Given the description of an element on the screen output the (x, y) to click on. 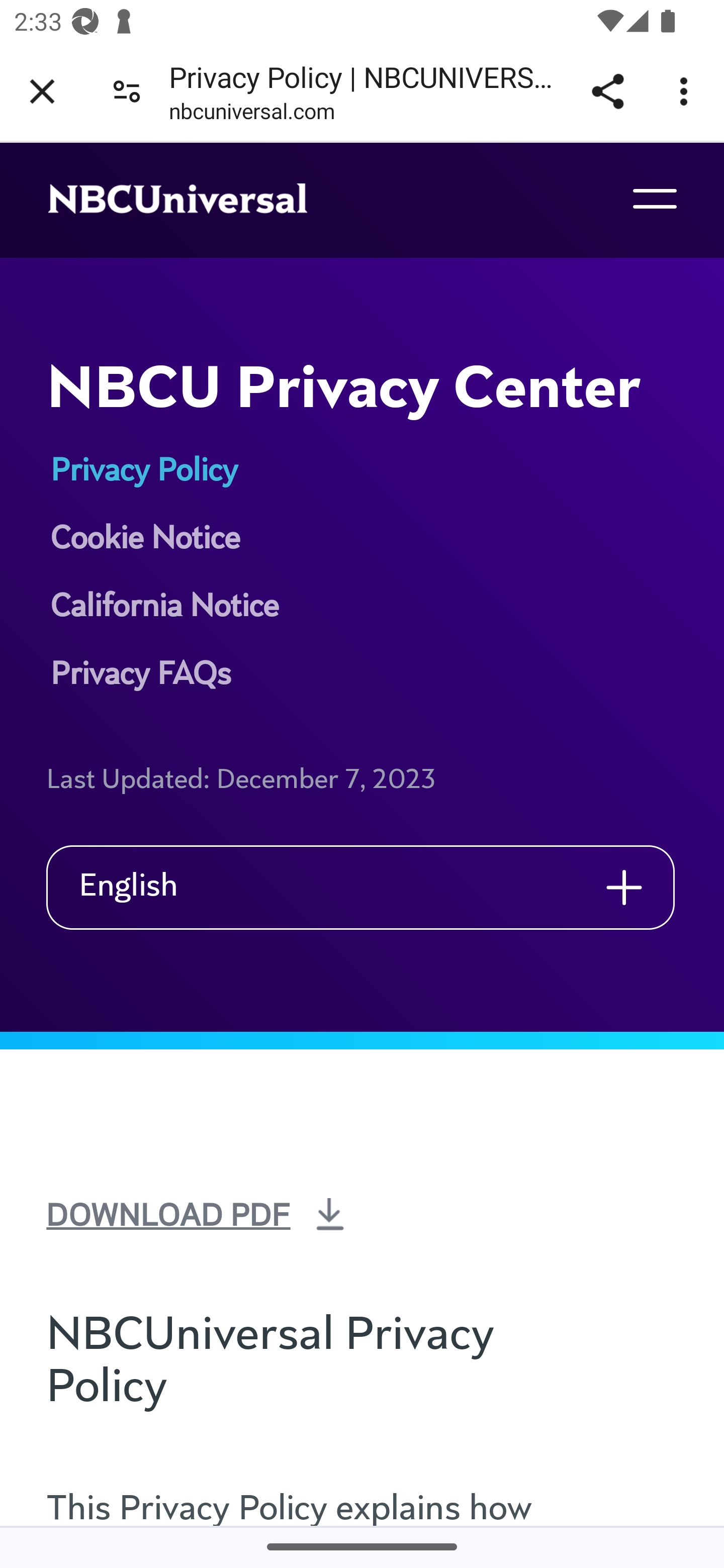
Close tab (42, 91)
Share (607, 91)
Customize and control Google Chrome (687, 91)
Connection is secure (126, 90)
nbcuniversal.com (251, 114)
See more about Home Home (198, 199)
Open Menu (653, 198)
